Given the description of an element on the screen output the (x, y) to click on. 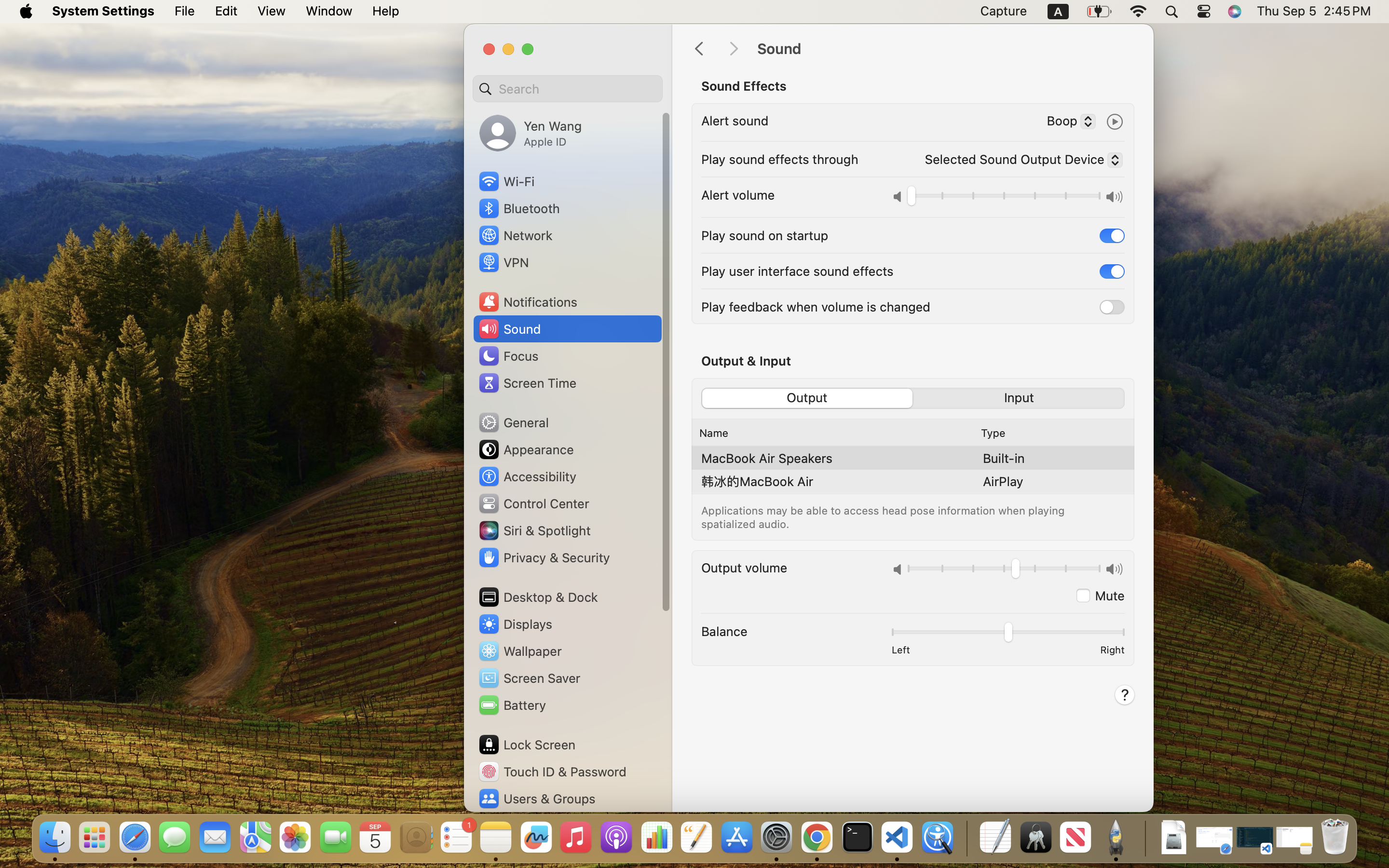
0.4285714328289032 Element type: AXDockItem (965, 837)
Yen Wang, Apple ID Element type: AXStaticText (530, 132)
